Given the description of an element on the screen output the (x, y) to click on. 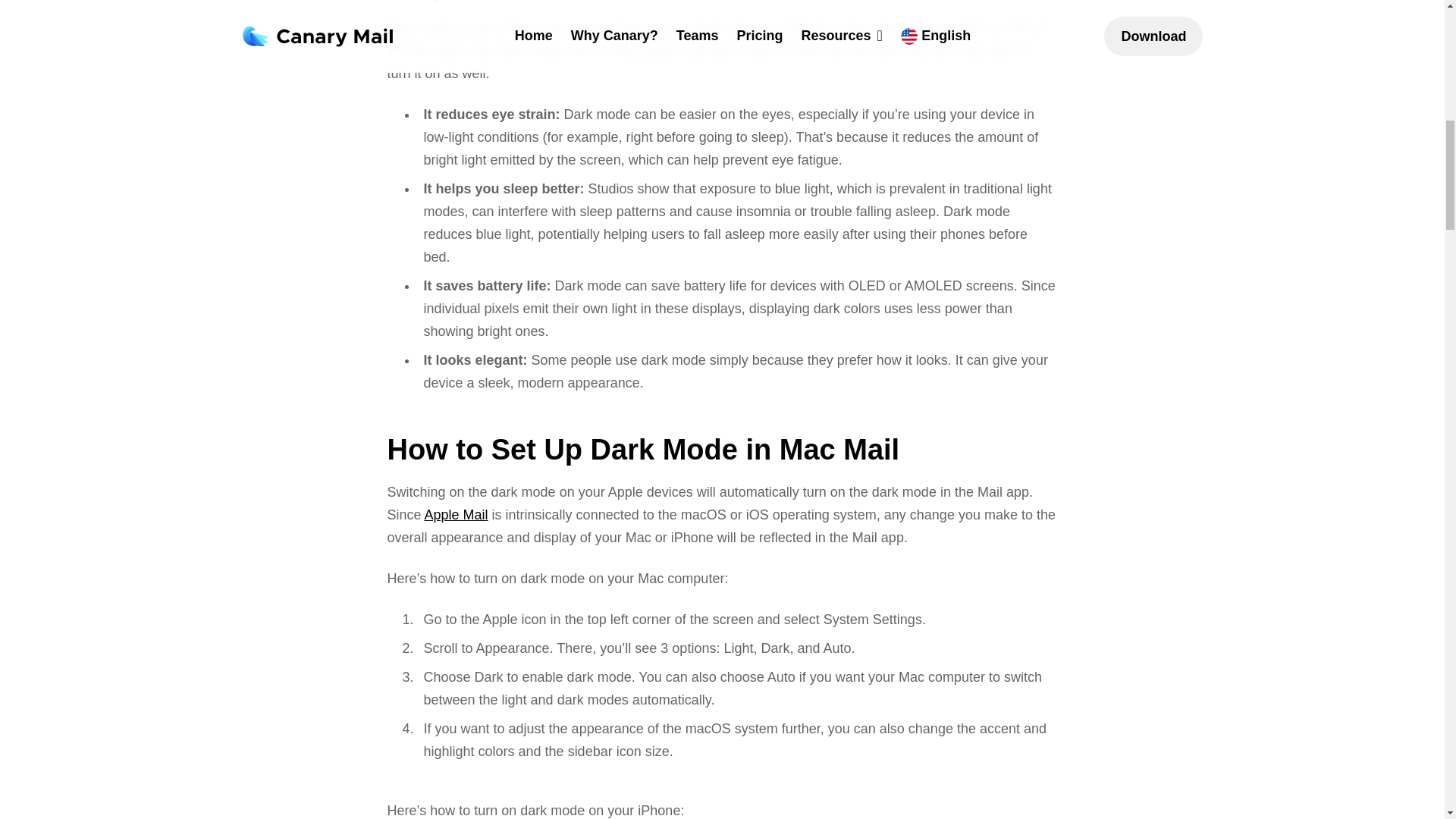
Apple Mail (456, 514)
